Given the description of an element on the screen output the (x, y) to click on. 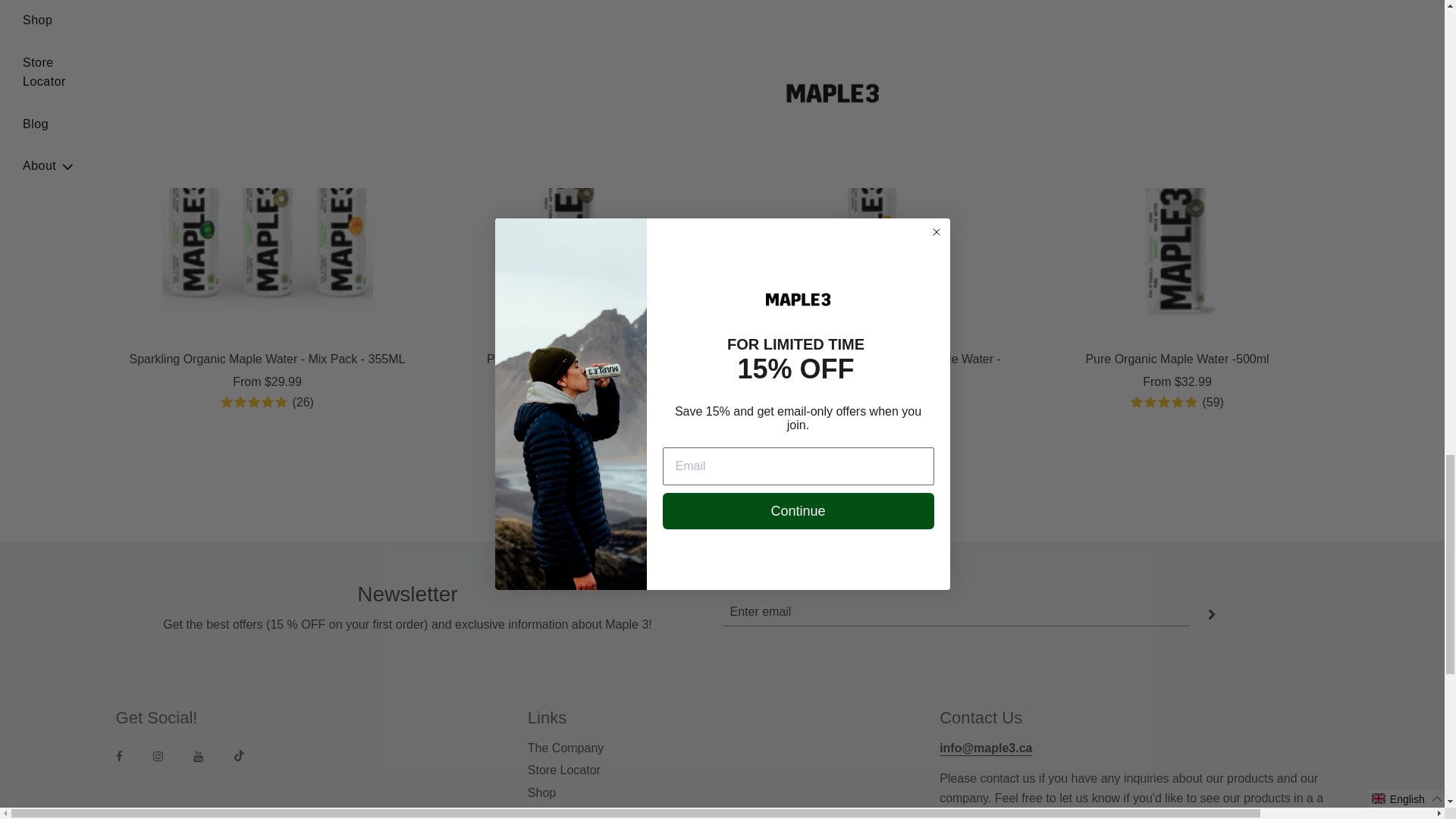
Pure Organic Maple Water - 1L (570, 232)
Pure Organic Maple Water -500ml (1176, 232)
Sparkling Organic Maple Water - Mix Pack - 355ML (267, 232)
